Given the description of an element on the screen output the (x, y) to click on. 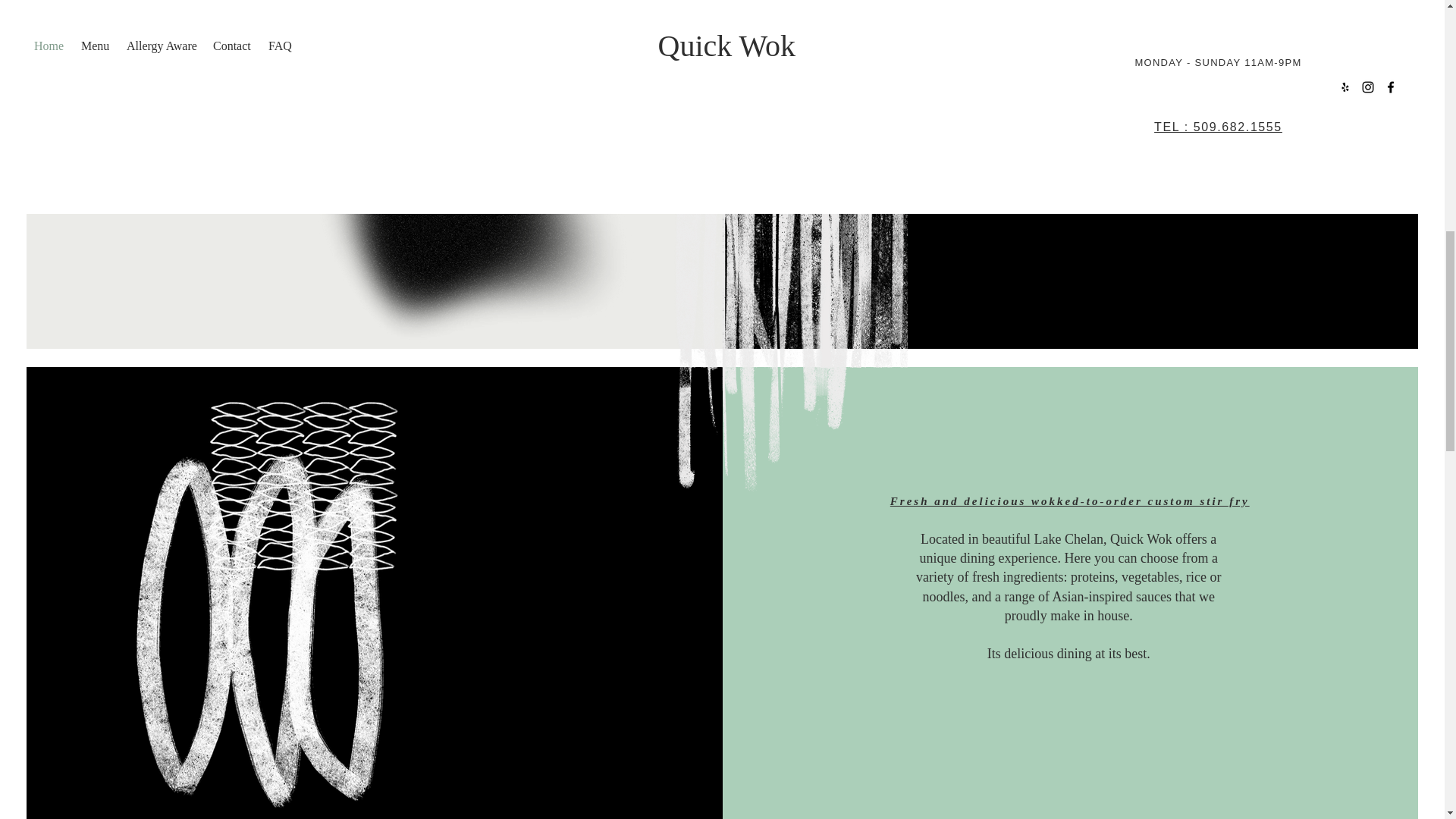
M E N U (375, 132)
